Given the description of an element on the screen output the (x, y) to click on. 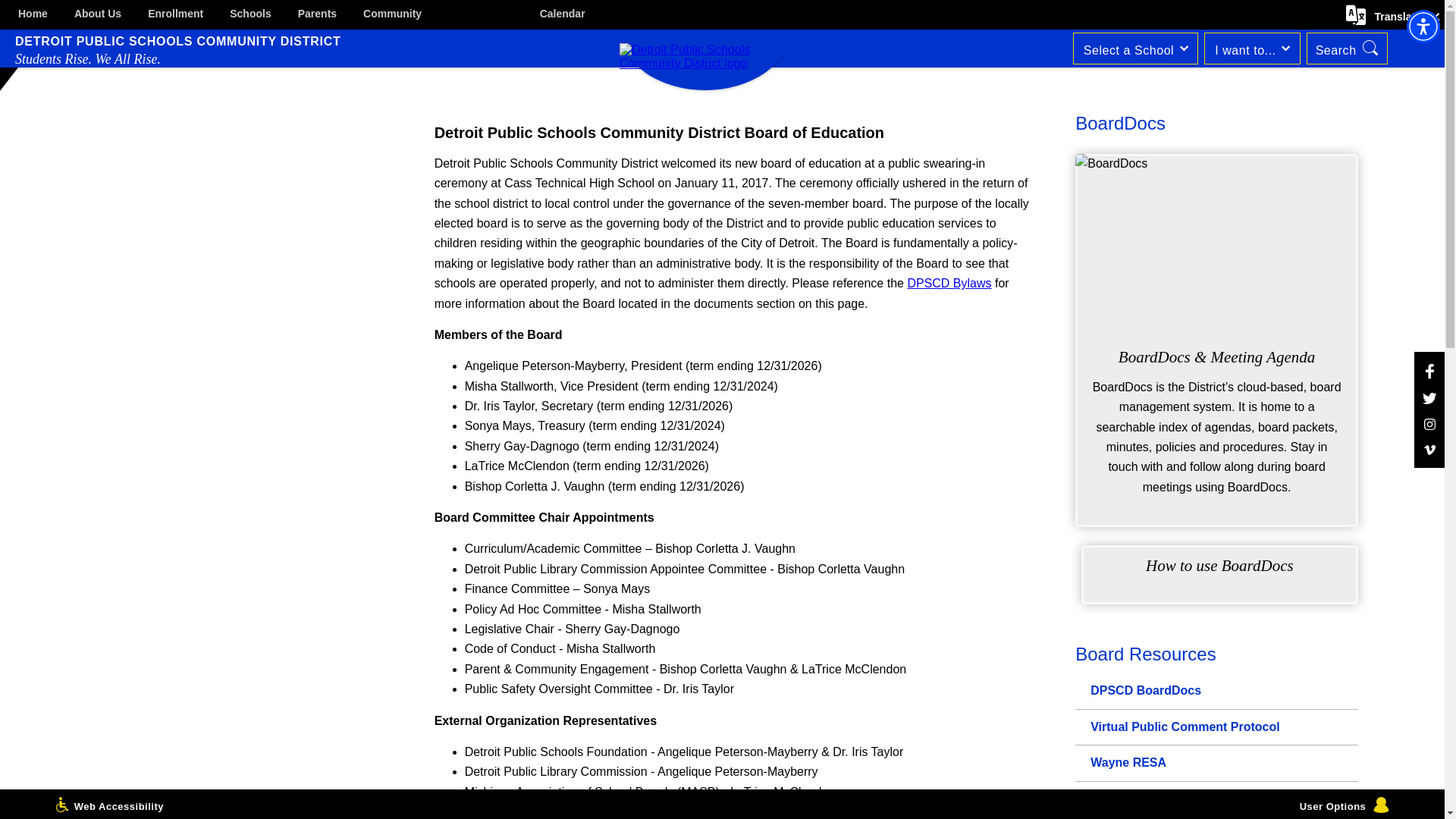
Wayne Resa (1216, 763)
Accessibility Menu (1422, 26)
MASB (1216, 799)
BoardDocs (1216, 691)
